Given the description of an element on the screen output the (x, y) to click on. 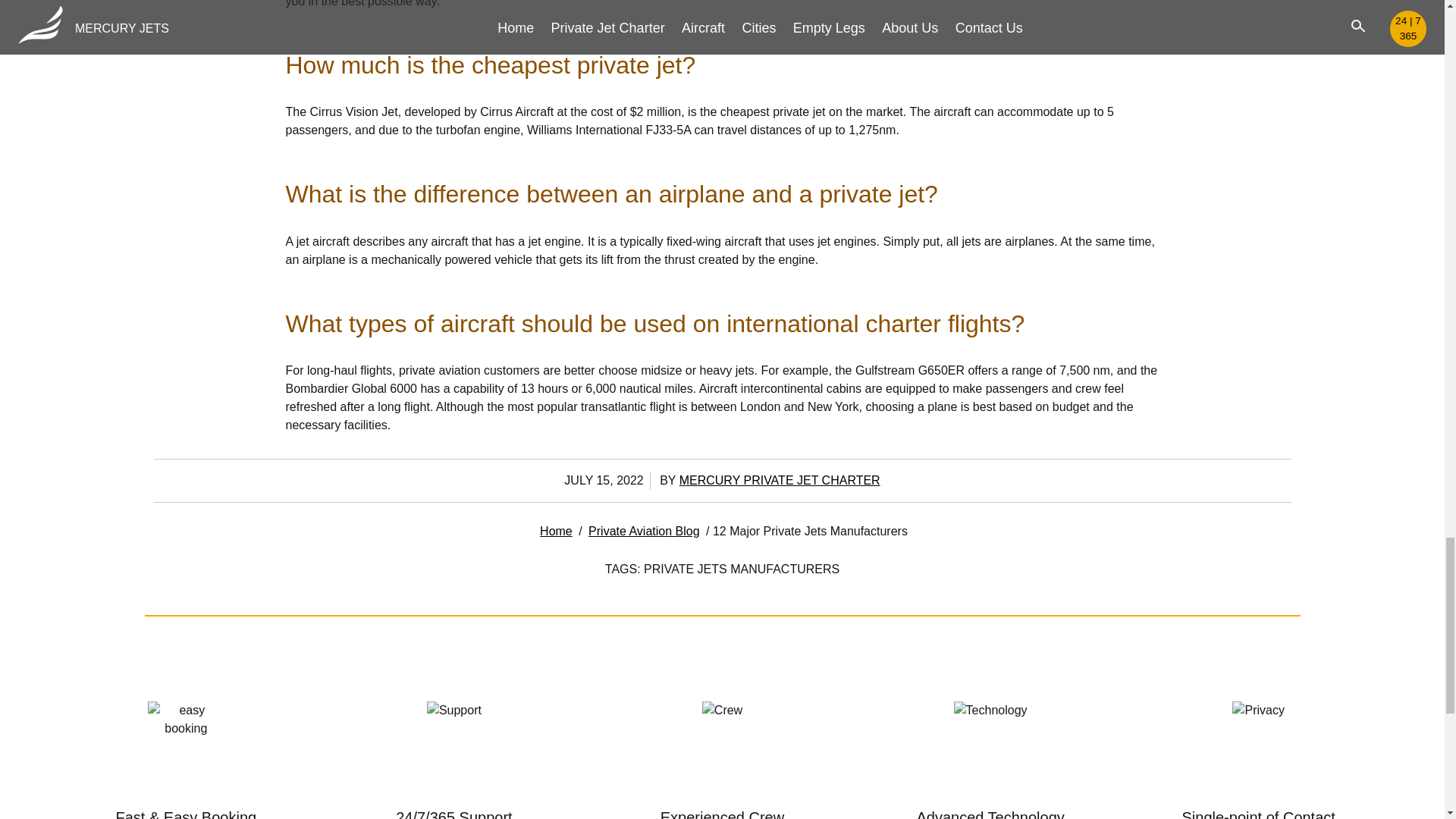
Private Aviation Blog (643, 530)
Posts by Mercury Private Jet Charter (779, 480)
Home (556, 530)
MERCURY PRIVATE JET CHARTER (779, 480)
